Given the description of an element on the screen output the (x, y) to click on. 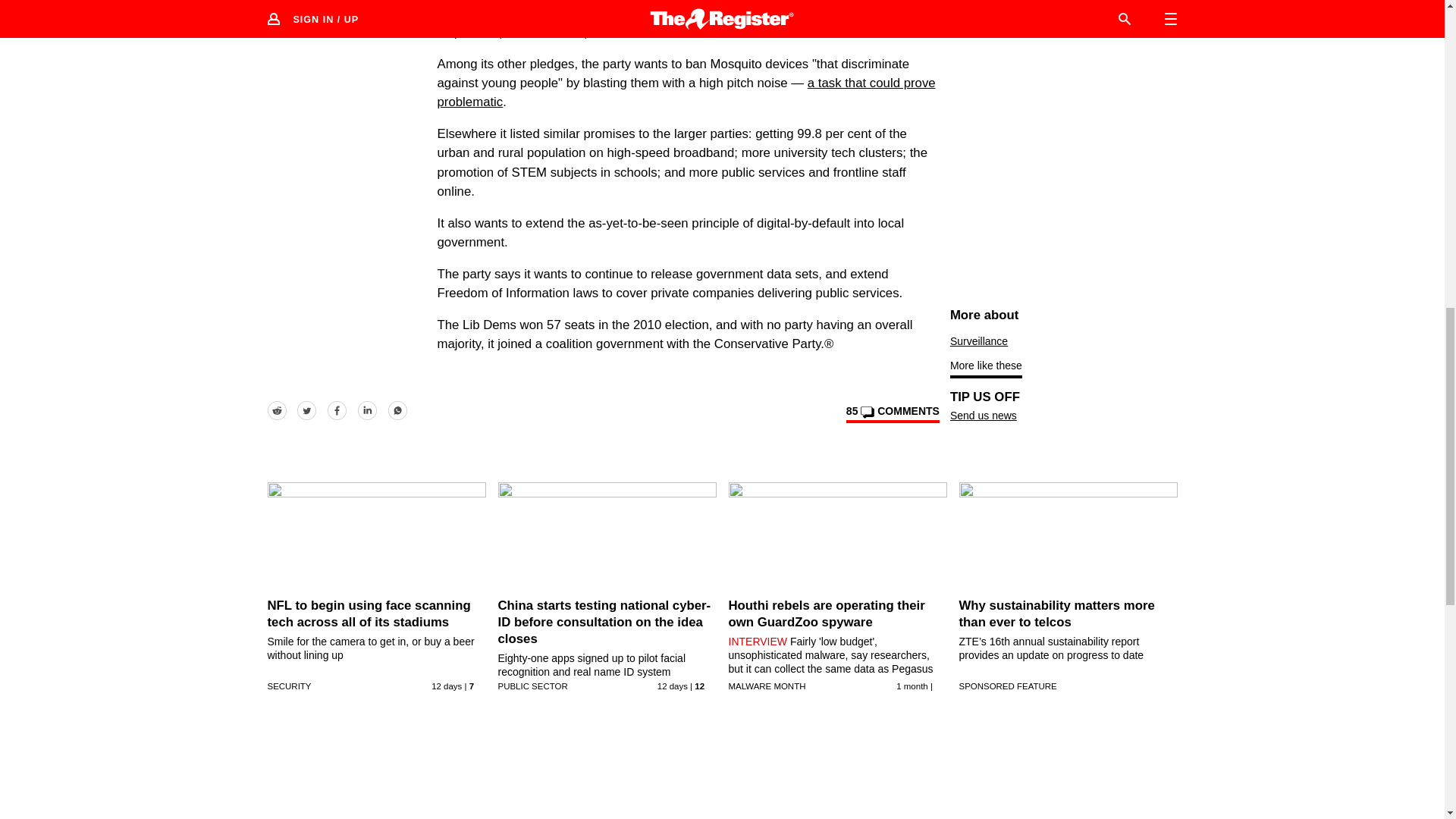
6 Aug 2024 1:43 (445, 686)
9 Jul 2024 10:56 (911, 686)
5 Aug 2024 5:15 (672, 686)
View comments on this article (892, 413)
